Given the description of an element on the screen output the (x, y) to click on. 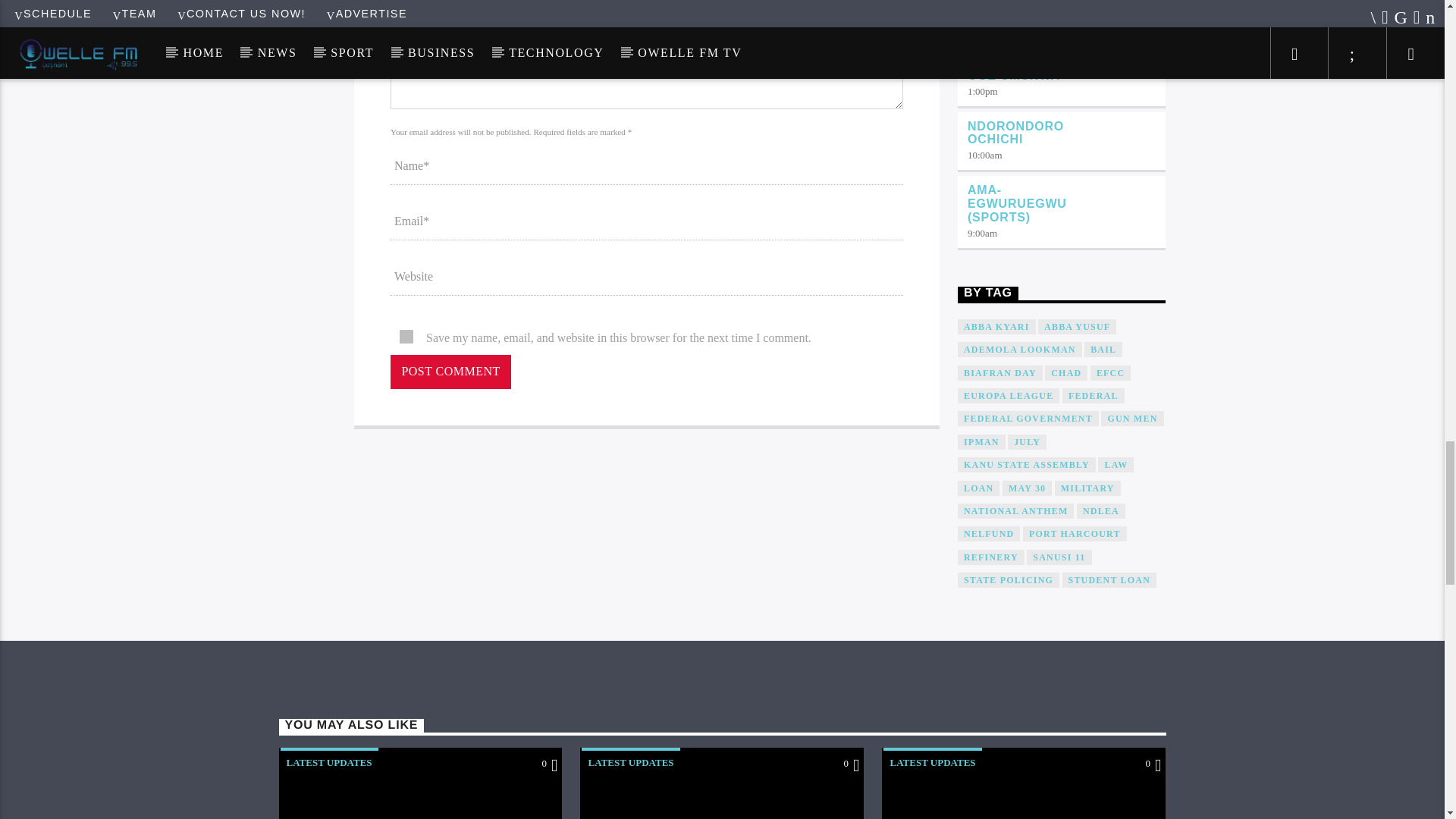
Post Comment (450, 371)
